Given the description of an element on the screen output the (x, y) to click on. 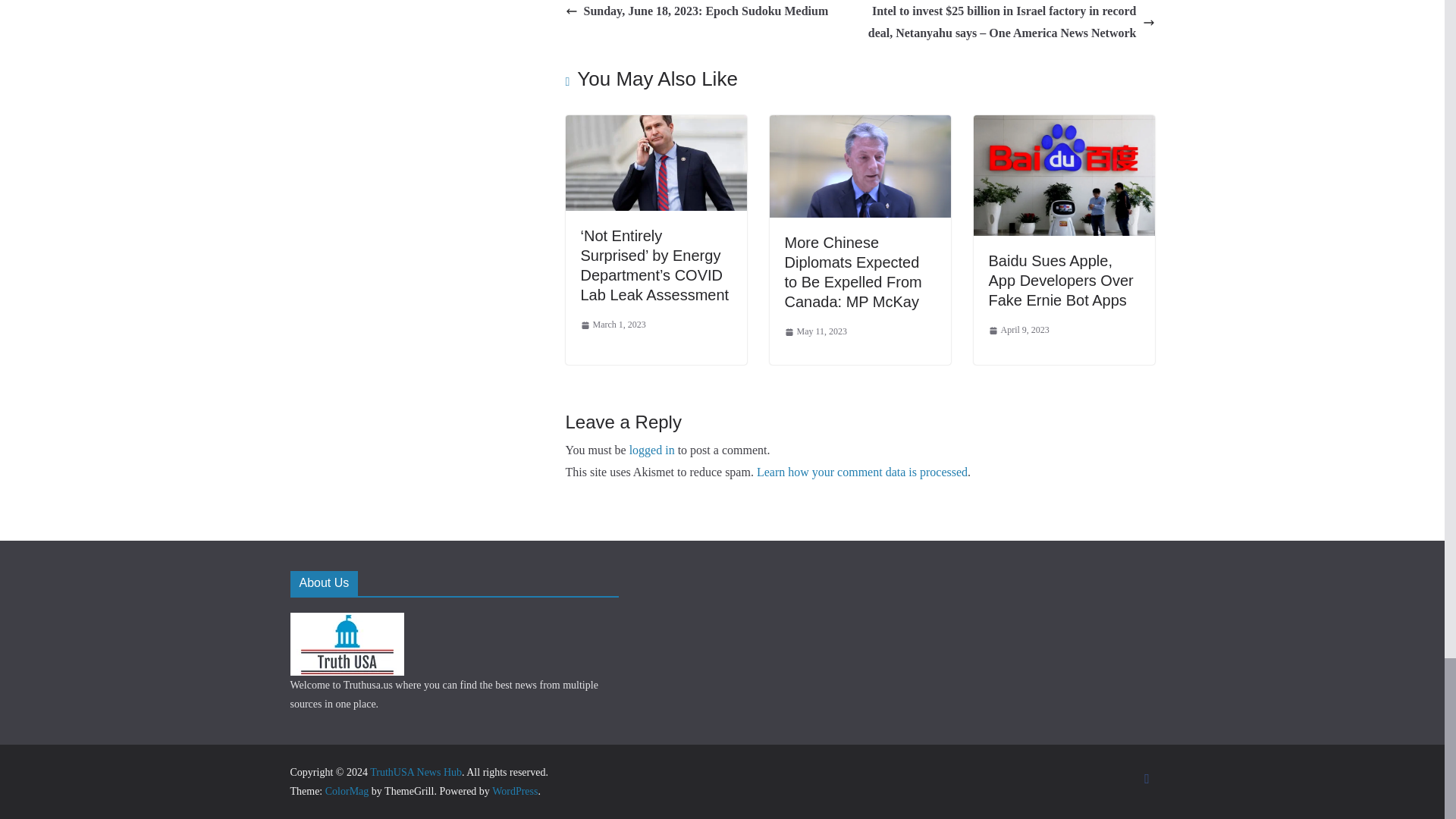
5:10 am (613, 324)
9:29 pm (815, 331)
Sunday, June 18, 2023: Epoch Sudoku Medium (697, 11)
March 1, 2023 (613, 324)
